Given the description of an element on the screen output the (x, y) to click on. 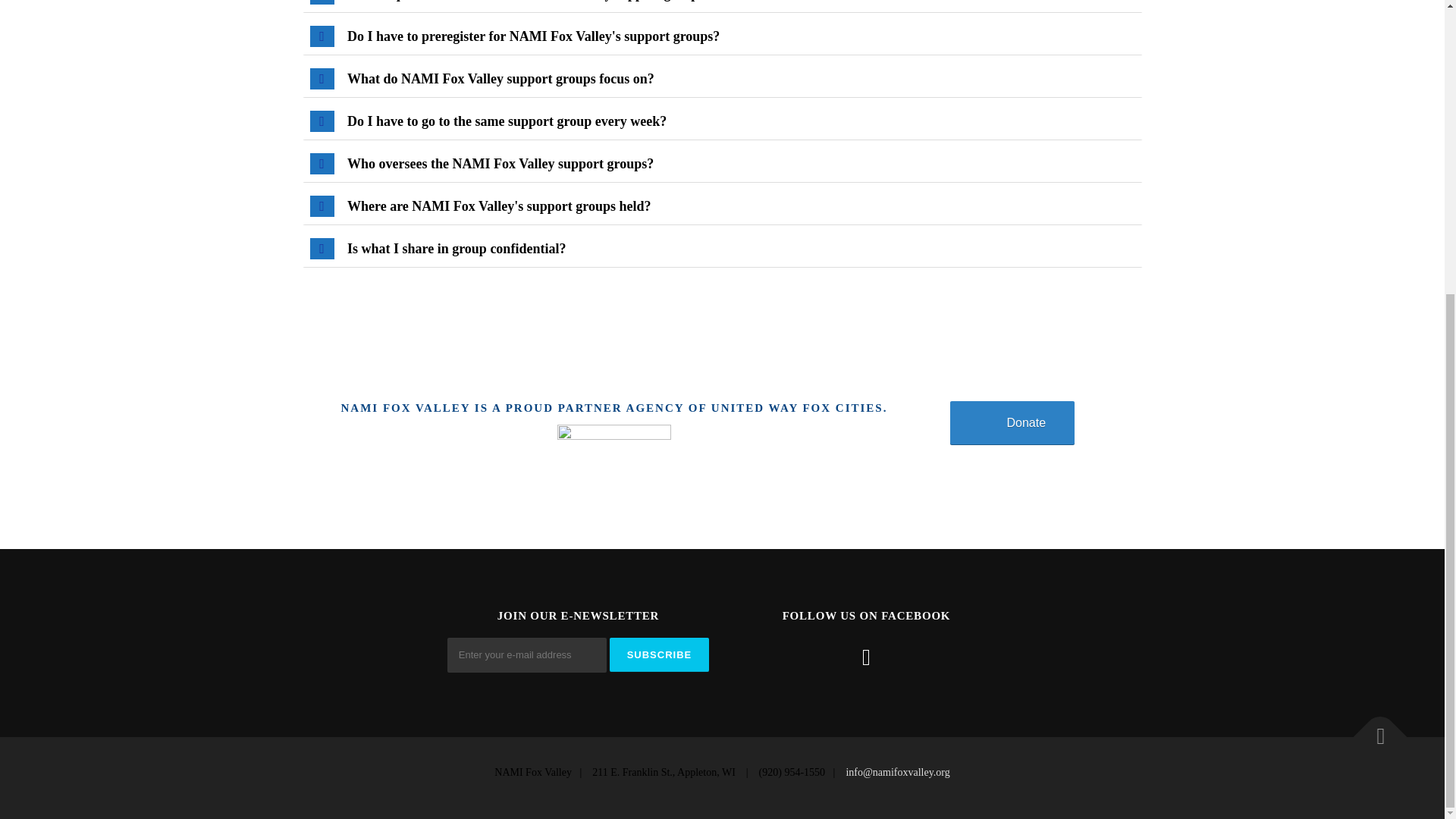
Where are NAMI Fox Valley's support groups held? (721, 206)
Back To Top (1372, 728)
What do NAMI Fox Valley support groups focus on? (721, 78)
Who oversees the NAMI Fox Valley support groups? (721, 163)
Do I have to go to the same support group every week? (721, 121)
Am I required to share at a NAMI Fox Valley support group? (721, 6)
Is what I share in group confidential? (721, 248)
Subscribe (660, 654)
